Given the description of an element on the screen output the (x, y) to click on. 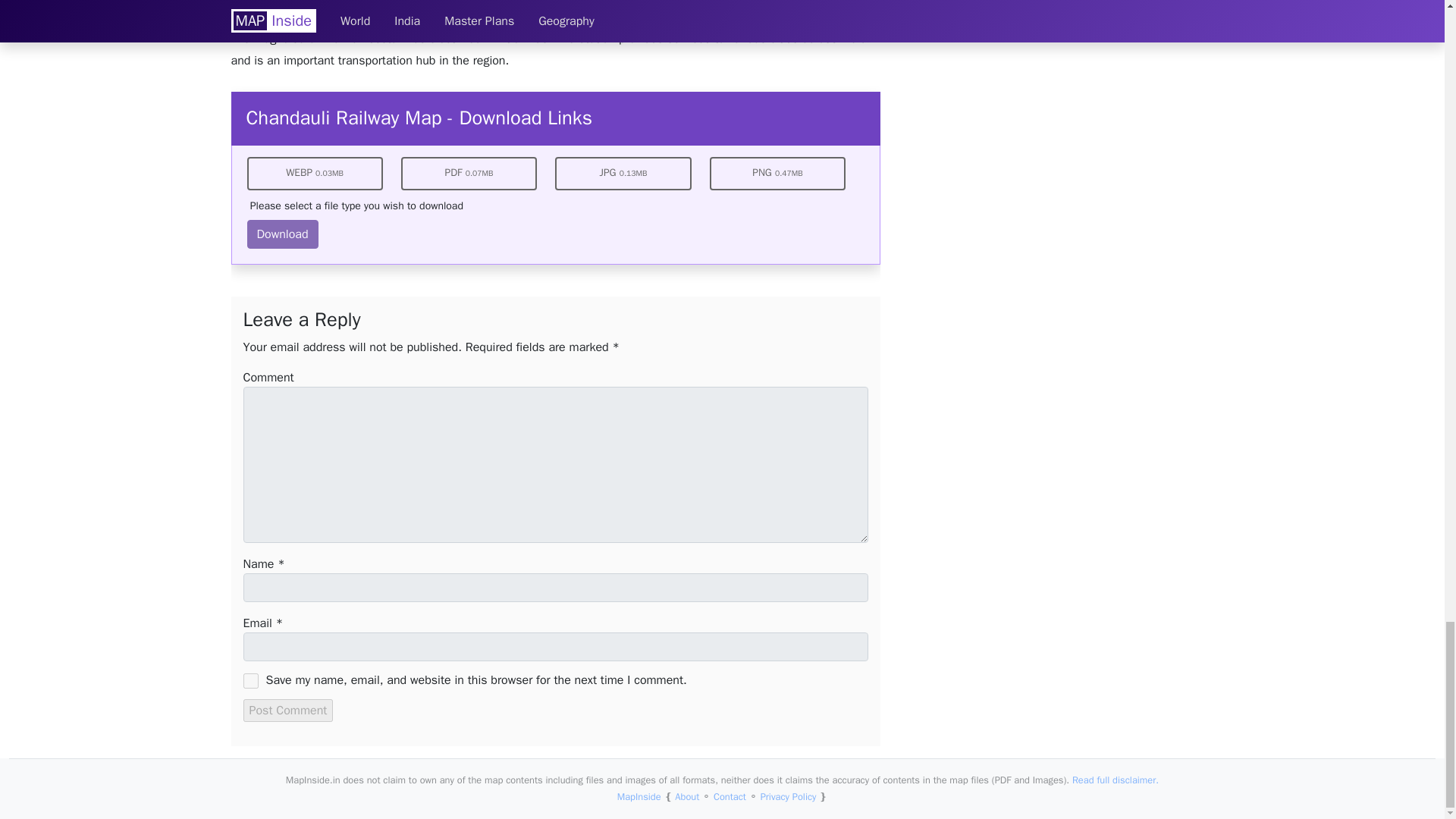
MapInside (639, 797)
Post Comment (288, 710)
Privacy Policy (788, 797)
Read full disclaimer. (1114, 779)
Post Comment (288, 710)
yes (250, 680)
Download (282, 234)
Contact (729, 797)
About (686, 797)
